Given the description of an element on the screen output the (x, y) to click on. 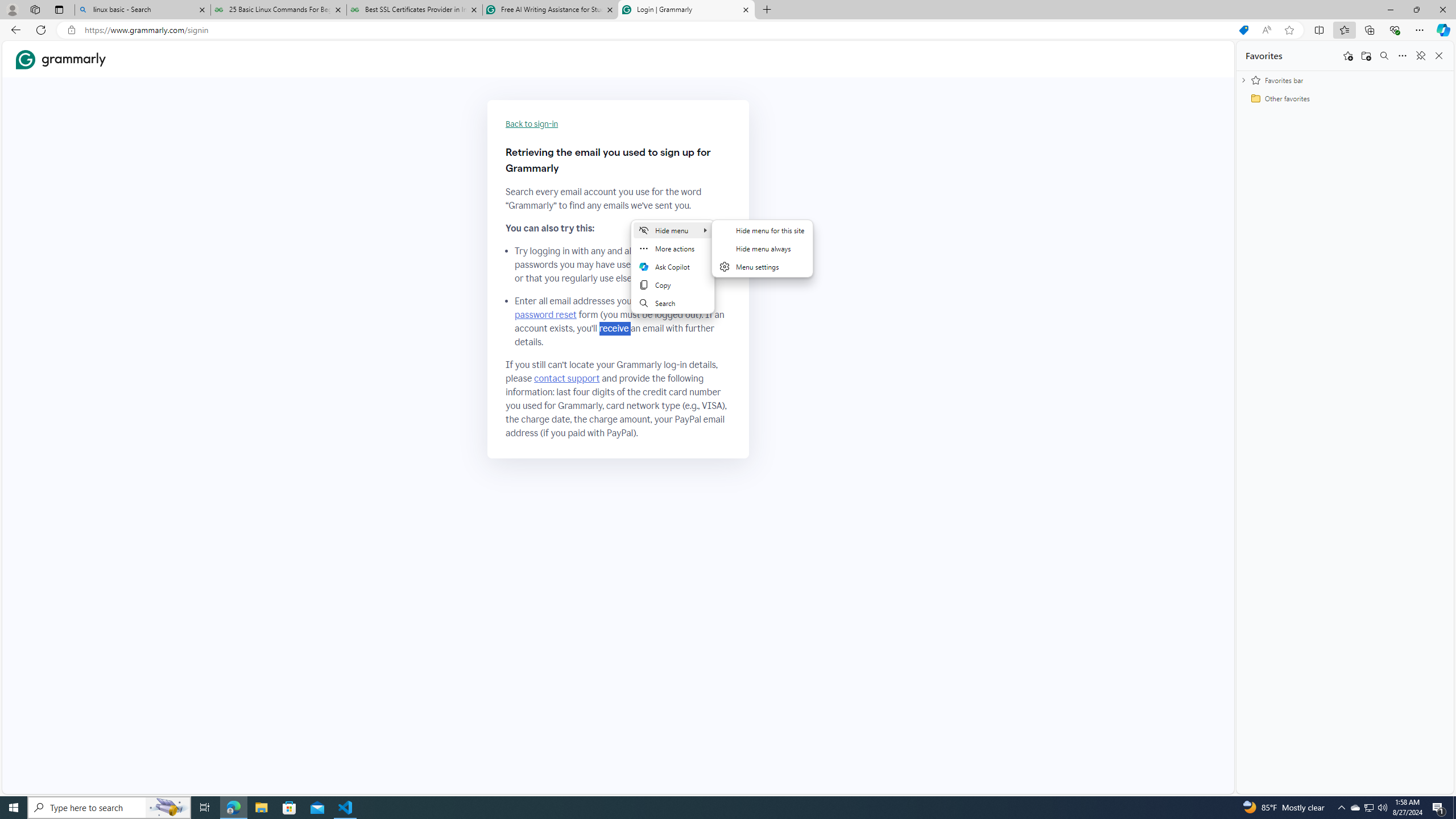
Hide menu (762, 255)
Back to sign-in (532, 124)
More actions (672, 248)
Ask Copilot (672, 266)
Mini menu on text selection (672, 266)
Grammarly Home (61, 59)
